Given the description of an element on the screen output the (x, y) to click on. 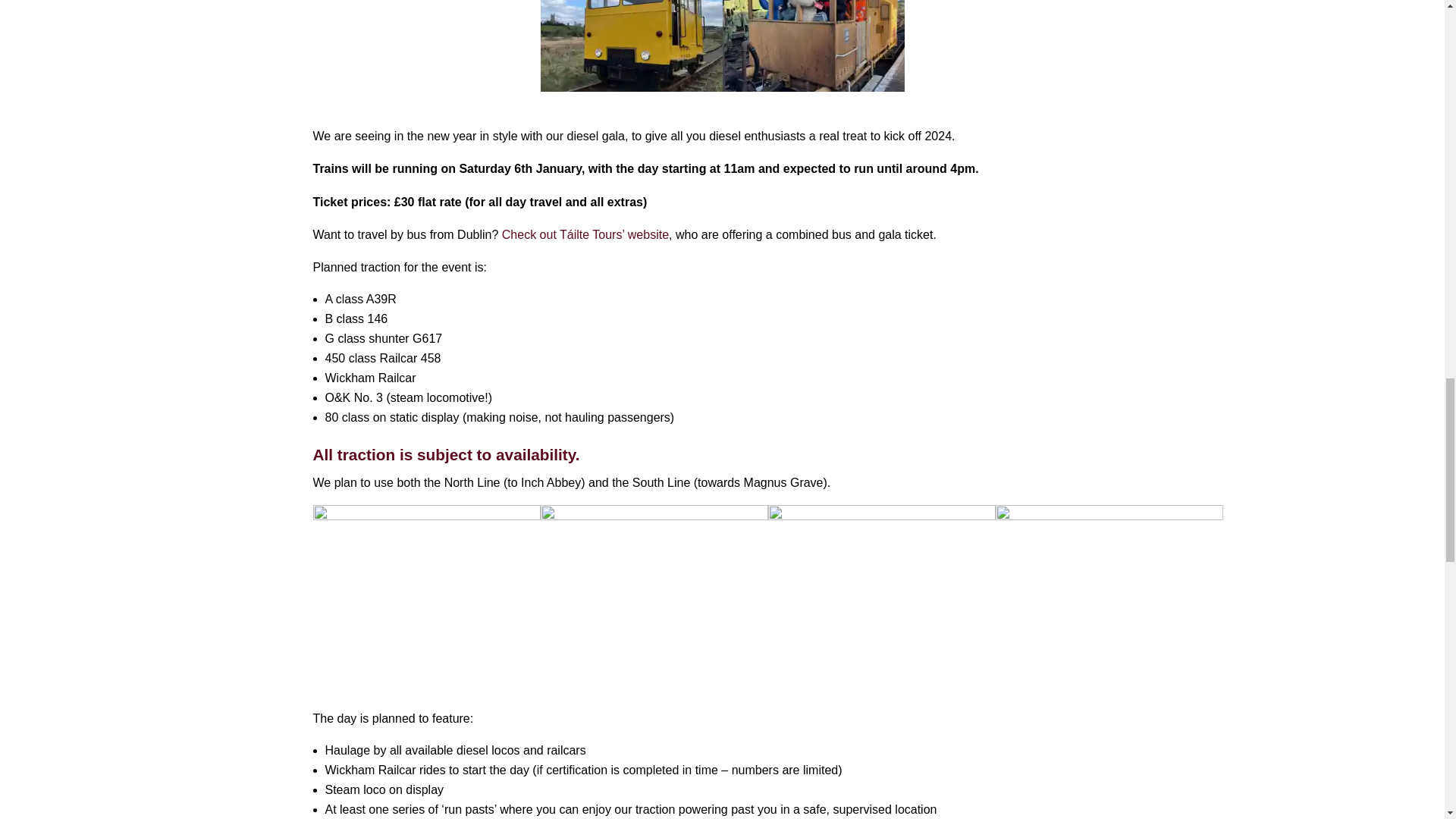
gala-06 (813, 45)
gala-09 (653, 590)
gala-07 (1017, 63)
gala-02 (426, 590)
gala-13 (631, 45)
gala-12 (426, 63)
